Given the description of an element on the screen output the (x, y) to click on. 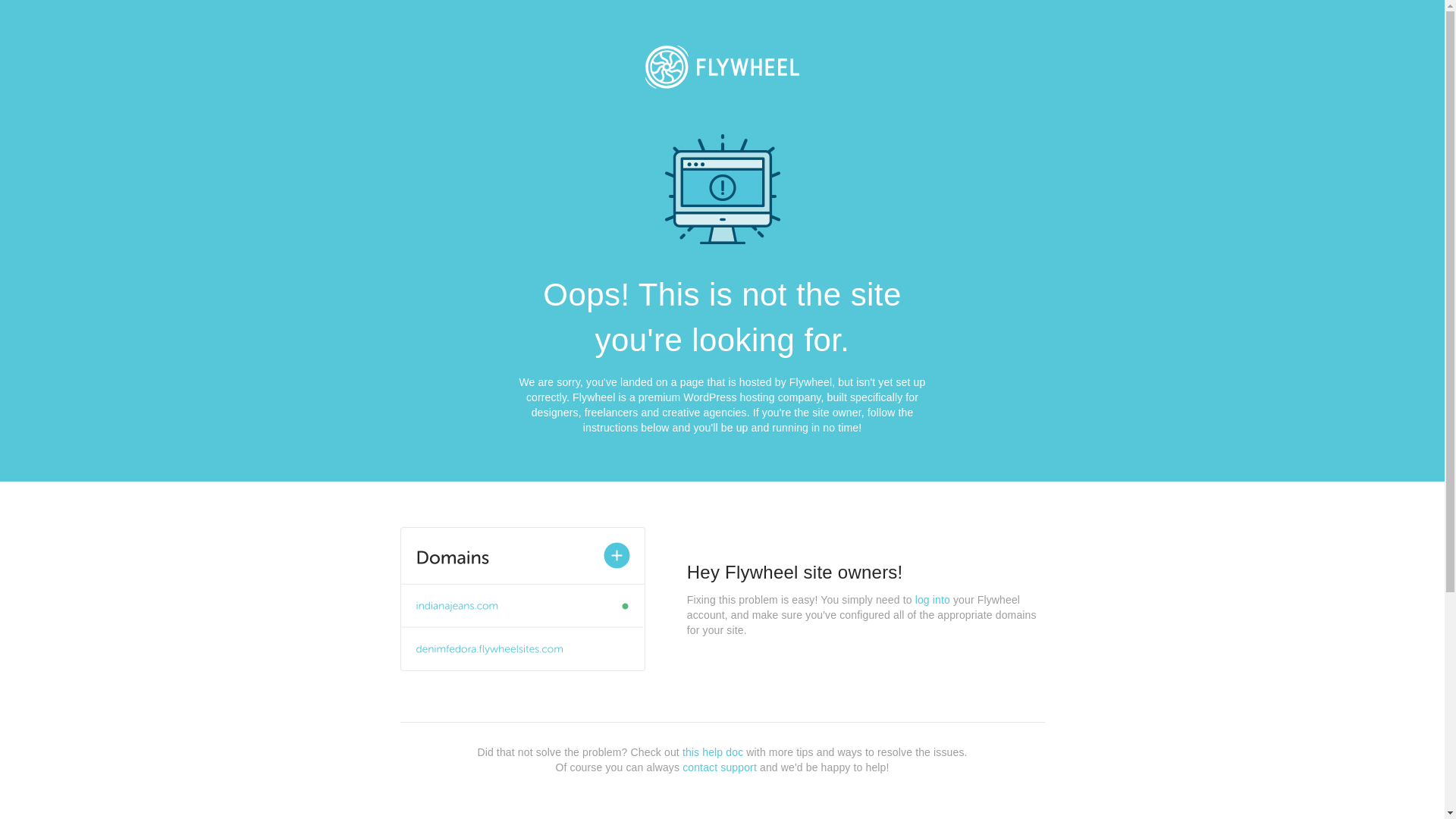
contact support (719, 767)
log into (932, 599)
this help doc (712, 752)
